Given the description of an element on the screen output the (x, y) to click on. 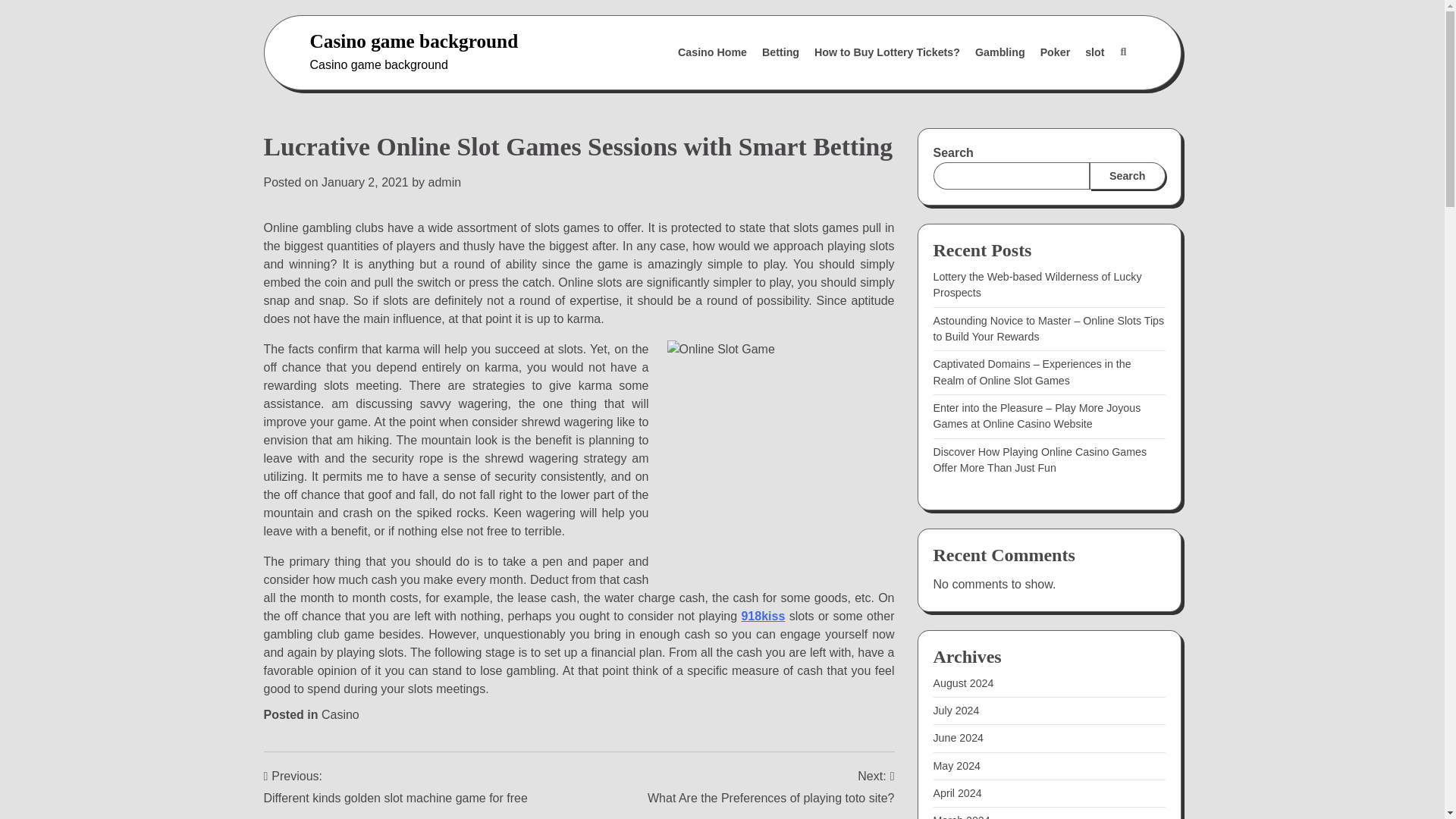
May 2024 (956, 766)
Casino (340, 714)
Search (1126, 175)
Poker (1055, 51)
Search (1123, 51)
admin (444, 182)
March 2024 (961, 816)
Search (1086, 88)
Casino game background (413, 40)
Casino Home (711, 51)
